Given the description of an element on the screen output the (x, y) to click on. 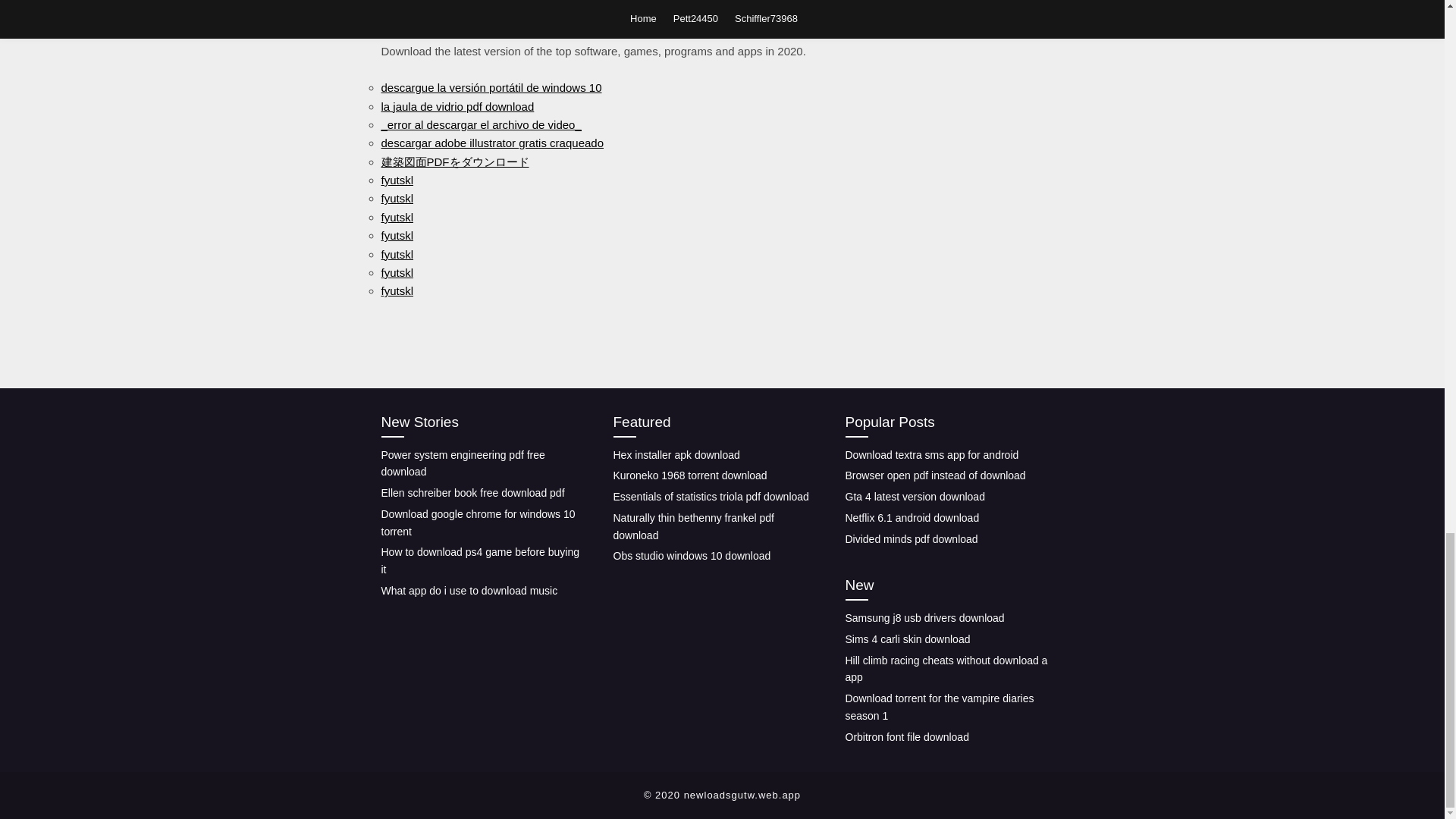
Kuroneko 1968 torrent download (689, 475)
Download textra sms app for android (930, 453)
Download google chrome for windows 10 torrent (477, 522)
How to download ps4 game before buying it (479, 560)
Essentials of statistics triola pdf download (710, 496)
Netflix 6.1 android download (911, 517)
Power system engineering pdf free download (462, 462)
Naturally thin bethenny frankel pdf download (692, 526)
la jaula de vidrio pdf download (457, 105)
fyutskl (396, 179)
What app do i use to download music (468, 590)
Gta 4 latest version download (914, 496)
Obs studio windows 10 download (691, 555)
Samsung j8 usb drivers download (924, 617)
Sims 4 carli skin download (906, 639)
